Given the description of an element on the screen output the (x, y) to click on. 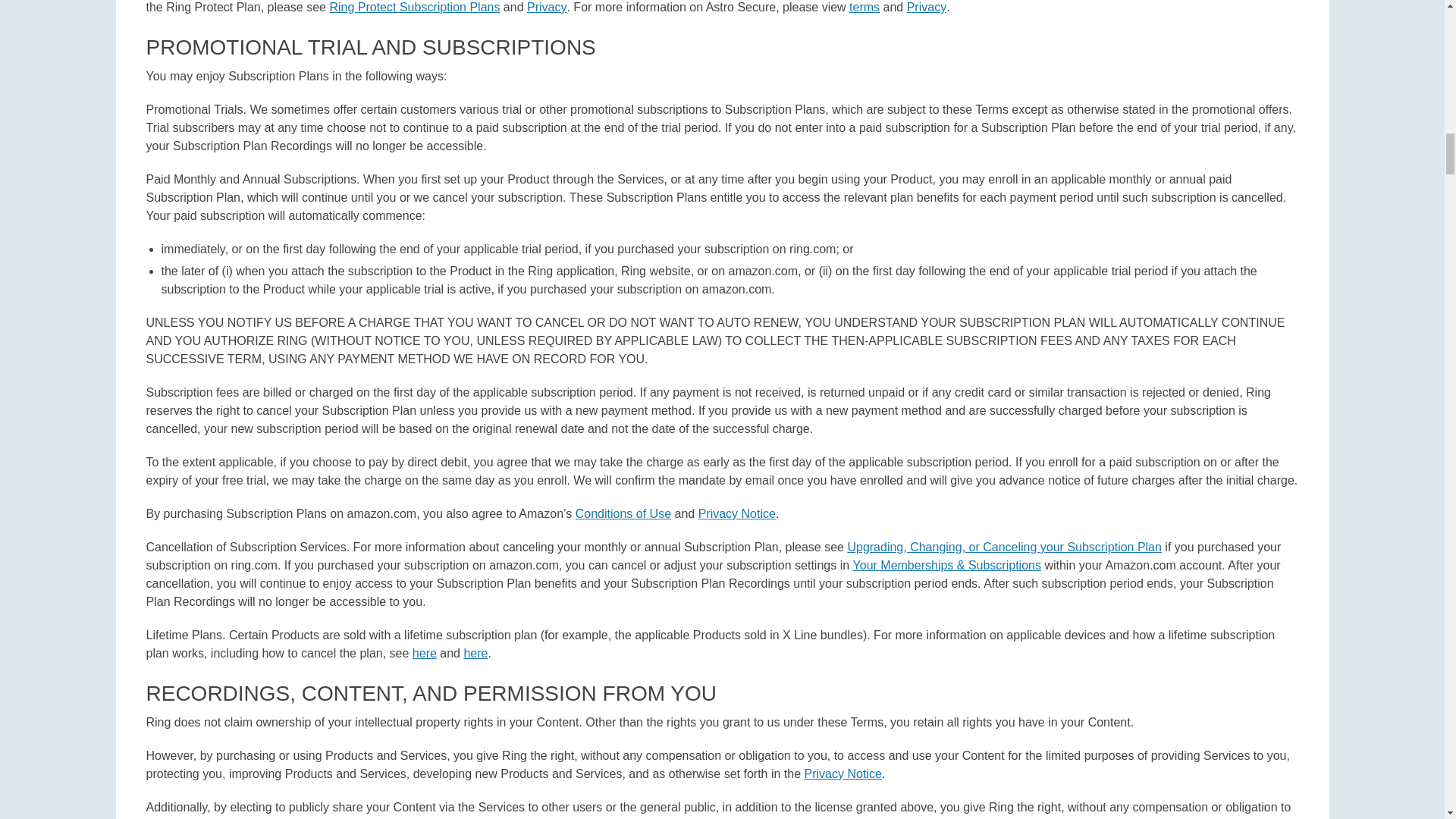
Privacy Notice (737, 513)
Privacy (546, 6)
here (424, 653)
here (475, 653)
Privacy Notice (843, 773)
Privacy (926, 6)
Ring Protect Subscription Plans (414, 6)
Upgrading, Changing, or Canceling your Subscription Plan (1003, 546)
terms (863, 6)
Conditions of Use (623, 513)
